Given the description of an element on the screen output the (x, y) to click on. 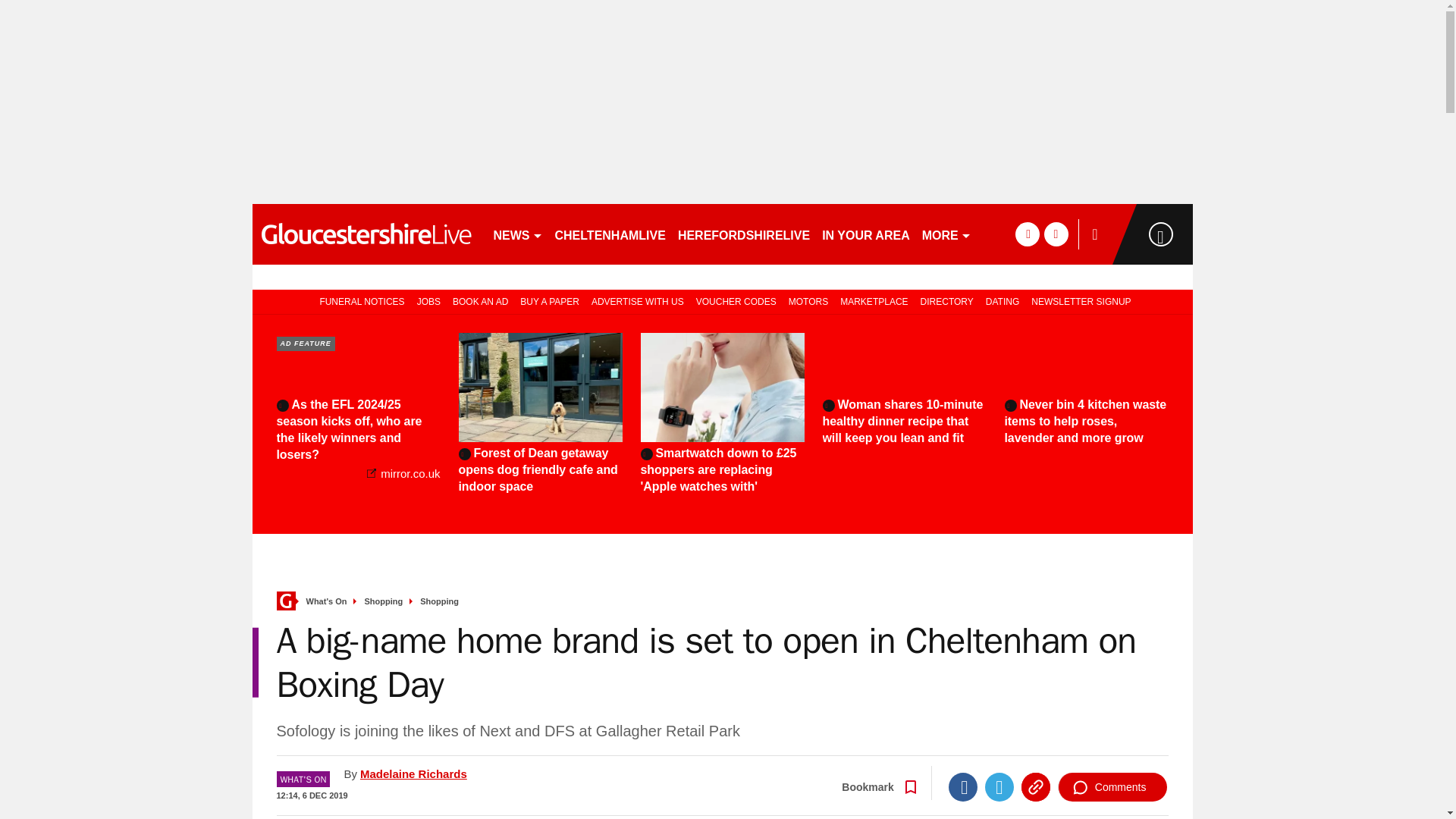
IN YOUR AREA (865, 233)
NEWS (517, 233)
CHELTENHAMLIVE (609, 233)
facebook (1026, 233)
gloucestershirelive (365, 233)
MORE (945, 233)
Facebook (962, 787)
HEREFORDSHIRELIVE (743, 233)
Comments (1112, 787)
twitter (1055, 233)
